Given the description of an element on the screen output the (x, y) to click on. 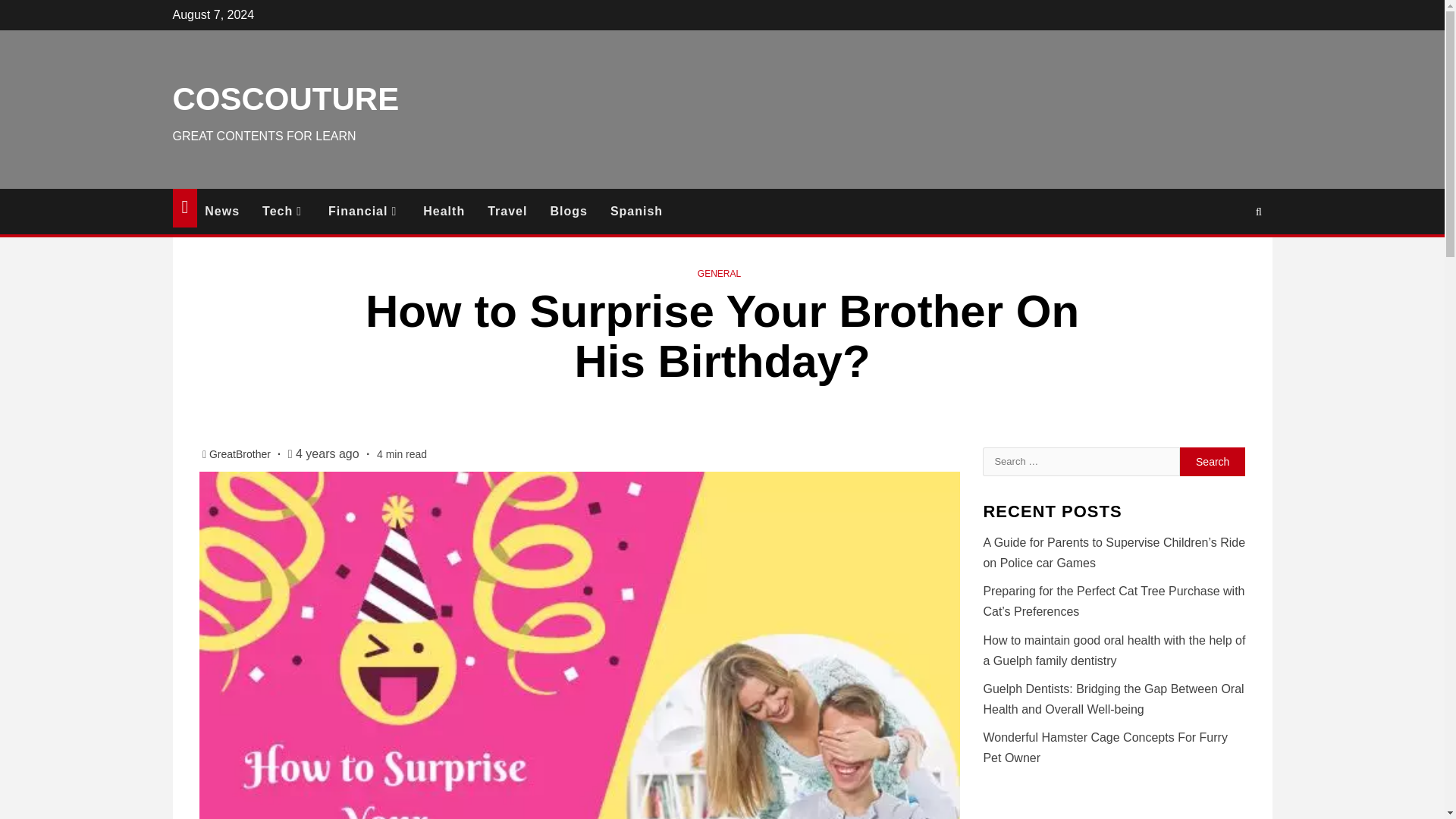
Search (1212, 461)
Health (455, 211)
Travel (518, 211)
Spanish (647, 211)
COSCOUTURE (285, 99)
Search (1229, 256)
Search (1212, 461)
GreatBrother (241, 453)
